Given the description of an element on the screen output the (x, y) to click on. 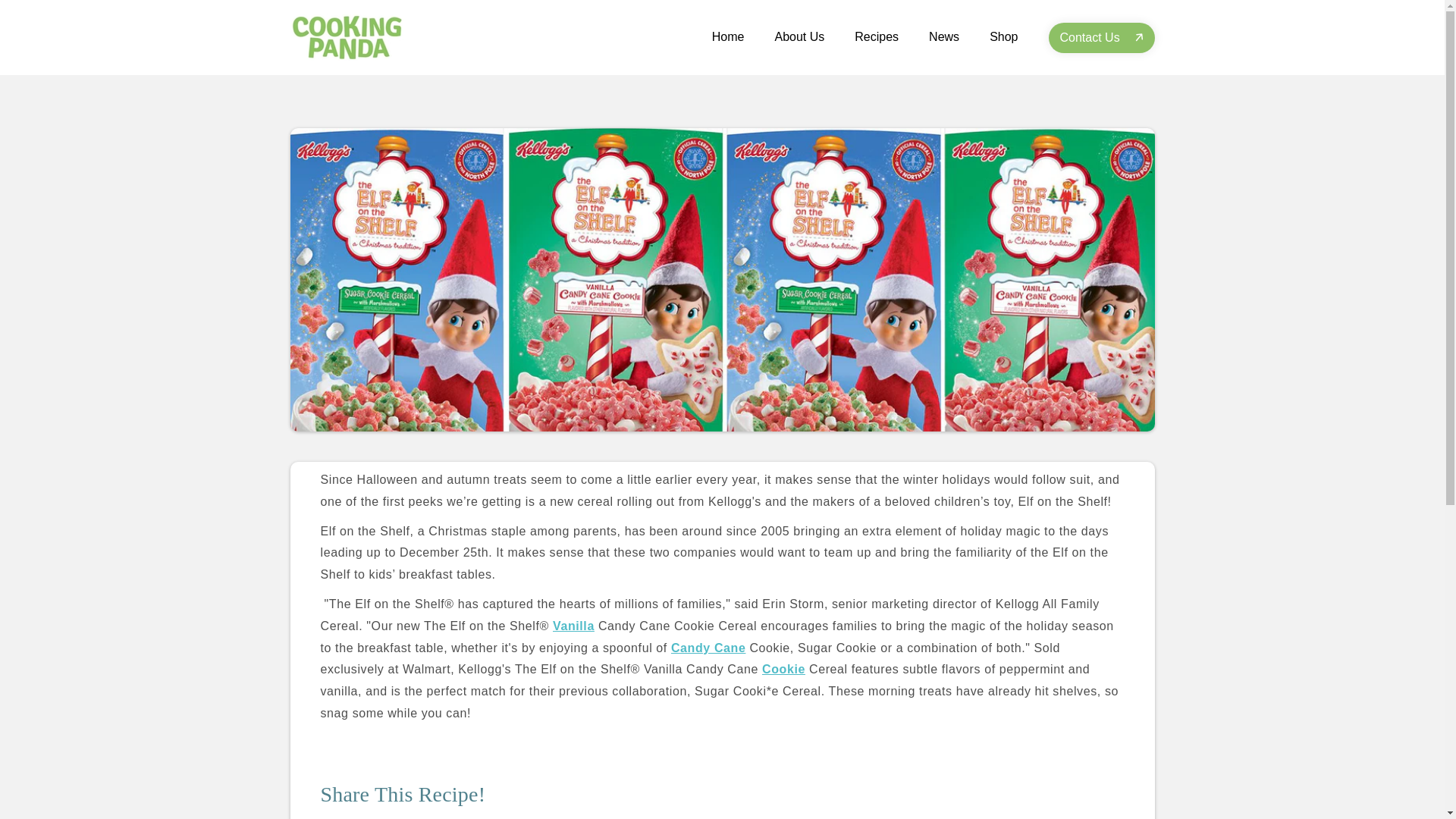
About Us (799, 36)
Recipes (877, 36)
Skip to content (45, 22)
Shop (1003, 36)
Home (728, 36)
News (944, 36)
Vanilla (573, 625)
Contact Us (1101, 37)
Cookie (783, 668)
Candy Cane (708, 647)
